Given the description of an element on the screen output the (x, y) to click on. 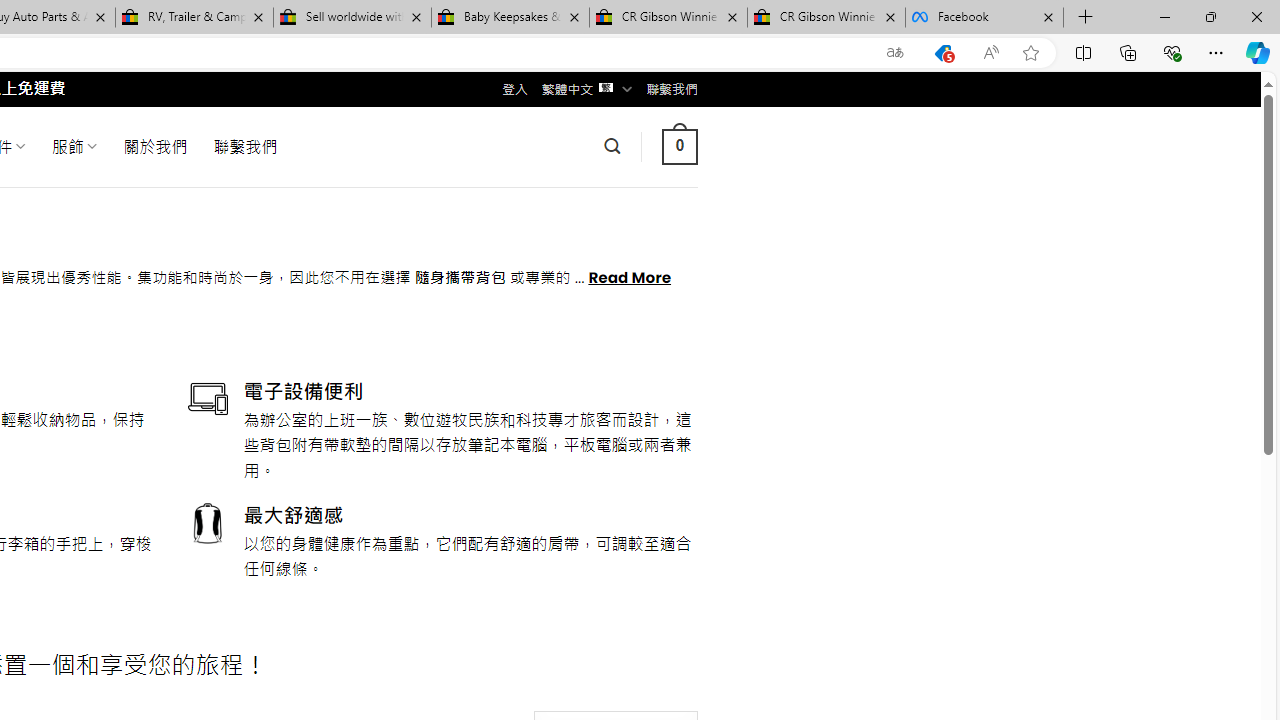
Browser essentials (1171, 52)
Close tab (1048, 16)
 0  (679, 146)
Baby Keepsakes & Announcements for sale | eBay (509, 17)
Add this page to favorites (Ctrl+D) (1030, 53)
Facebook (984, 17)
Read aloud this page (Ctrl+Shift+U) (991, 53)
Sell worldwide with eBay (352, 17)
